Given the description of an element on the screen output the (x, y) to click on. 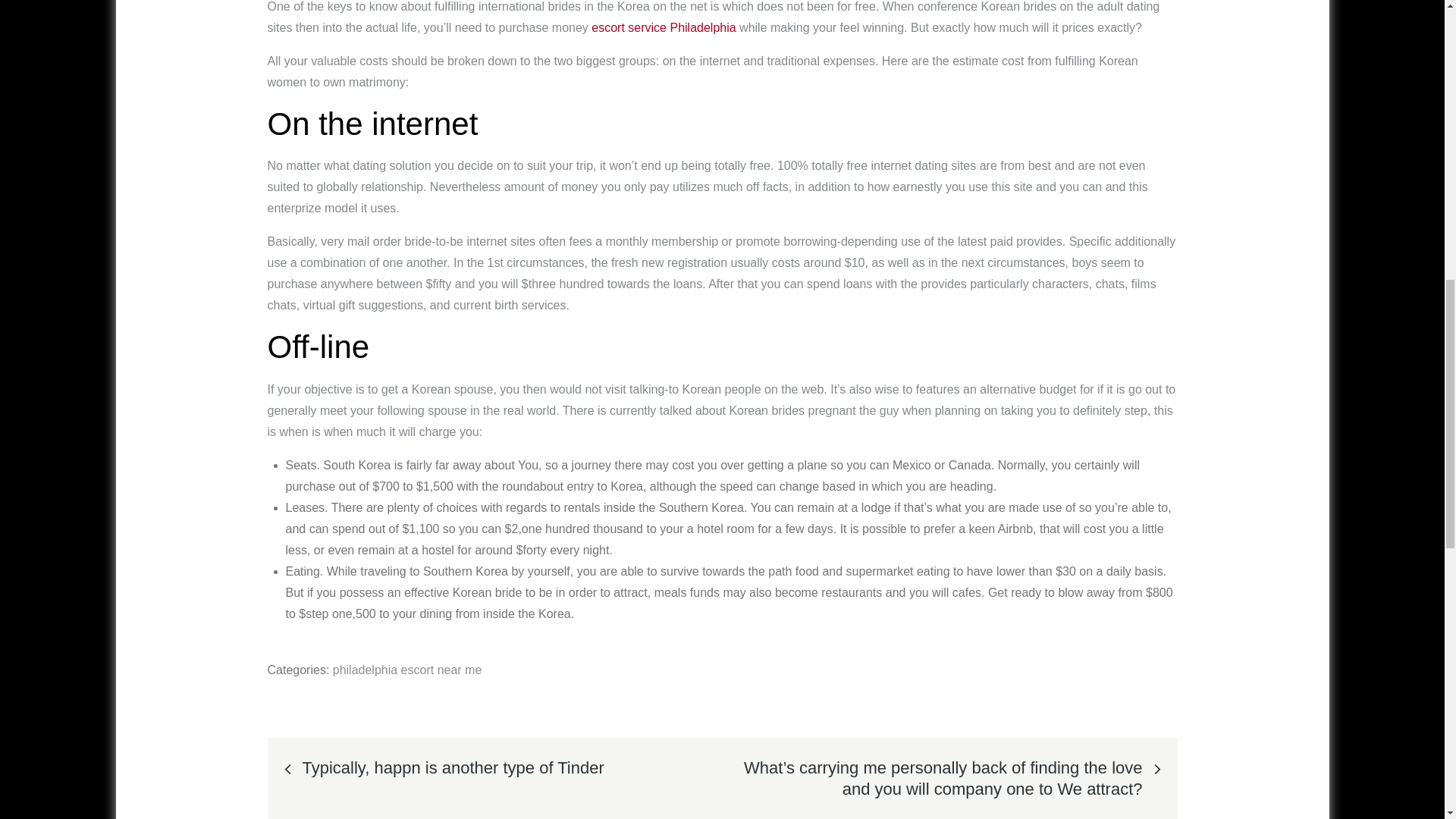
philadelphia escort near me (407, 669)
escort service Philadelphia (663, 27)
